Given the description of an element on the screen output the (x, y) to click on. 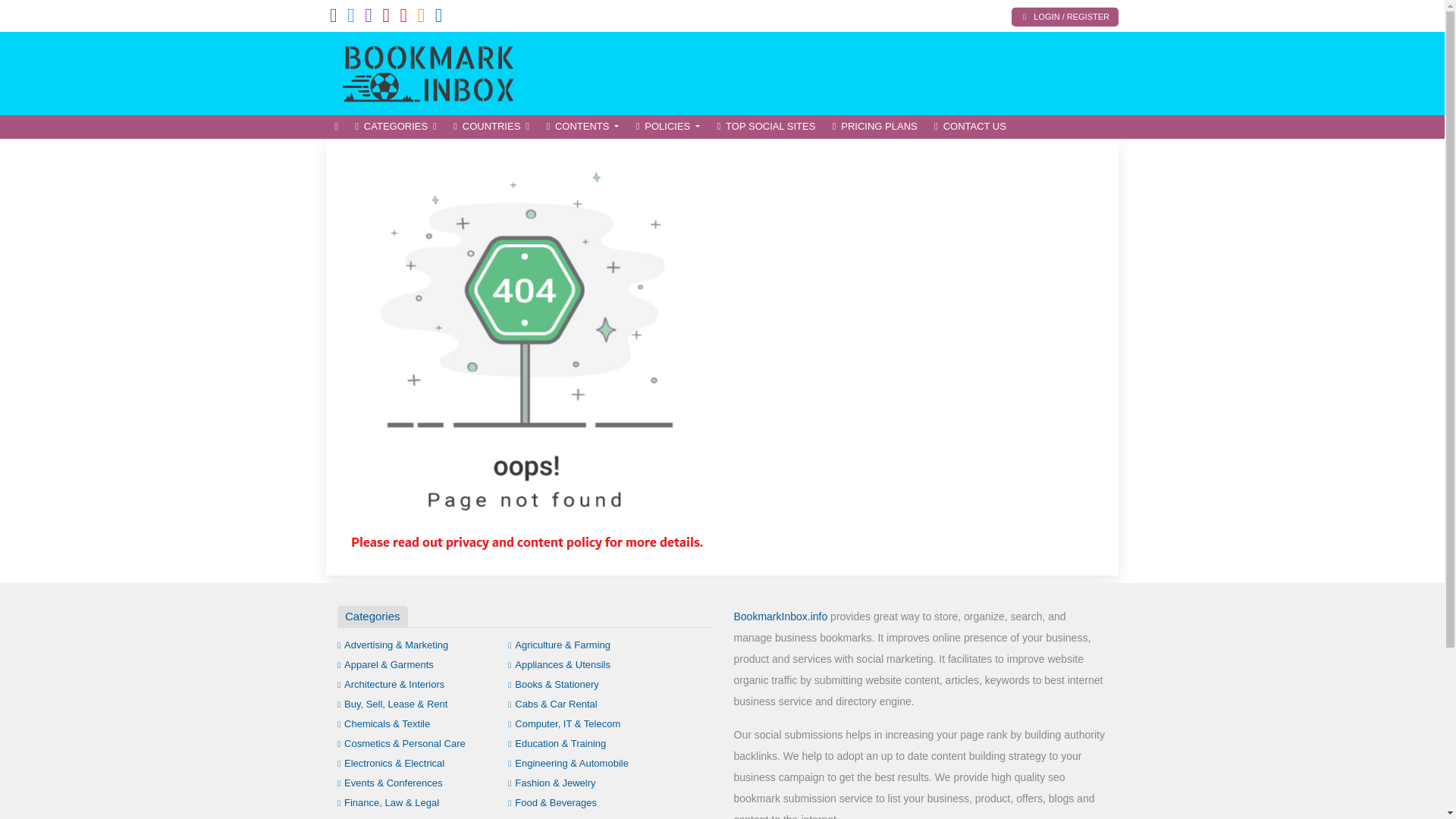
HOME (336, 126)
YouTube (403, 18)
RSS Feed (421, 18)
Facebook (333, 18)
CATEGORIES (395, 126)
Pinterest (385, 18)
Instagram (368, 18)
Linked In (438, 18)
COUNTRIES (491, 126)
Twitter (351, 18)
